Given the description of an element on the screen output the (x, y) to click on. 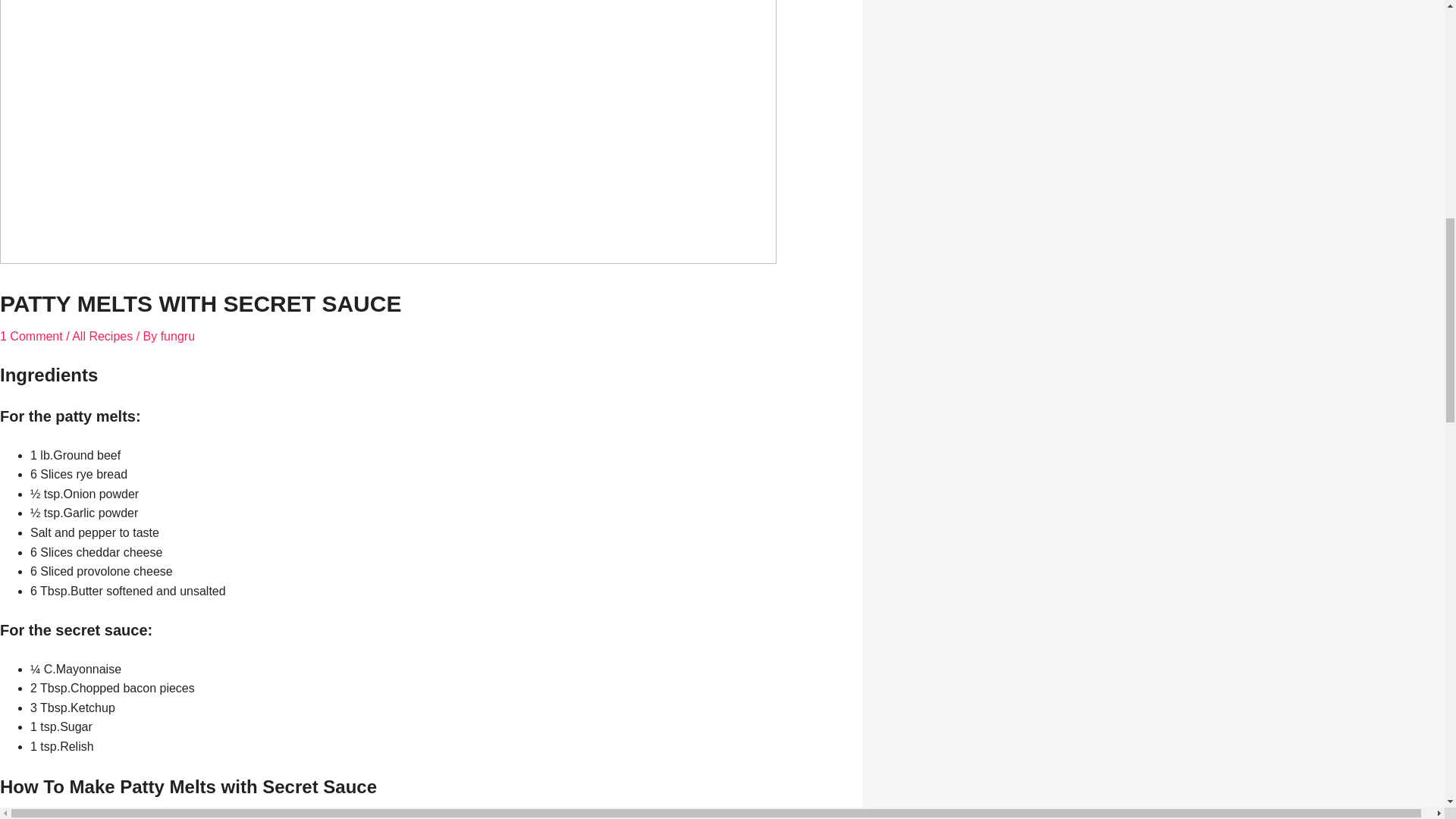
1 Comment (31, 336)
fungru (177, 336)
View all posts by fungru (177, 336)
All Recipes (101, 336)
